Given the description of an element on the screen output the (x, y) to click on. 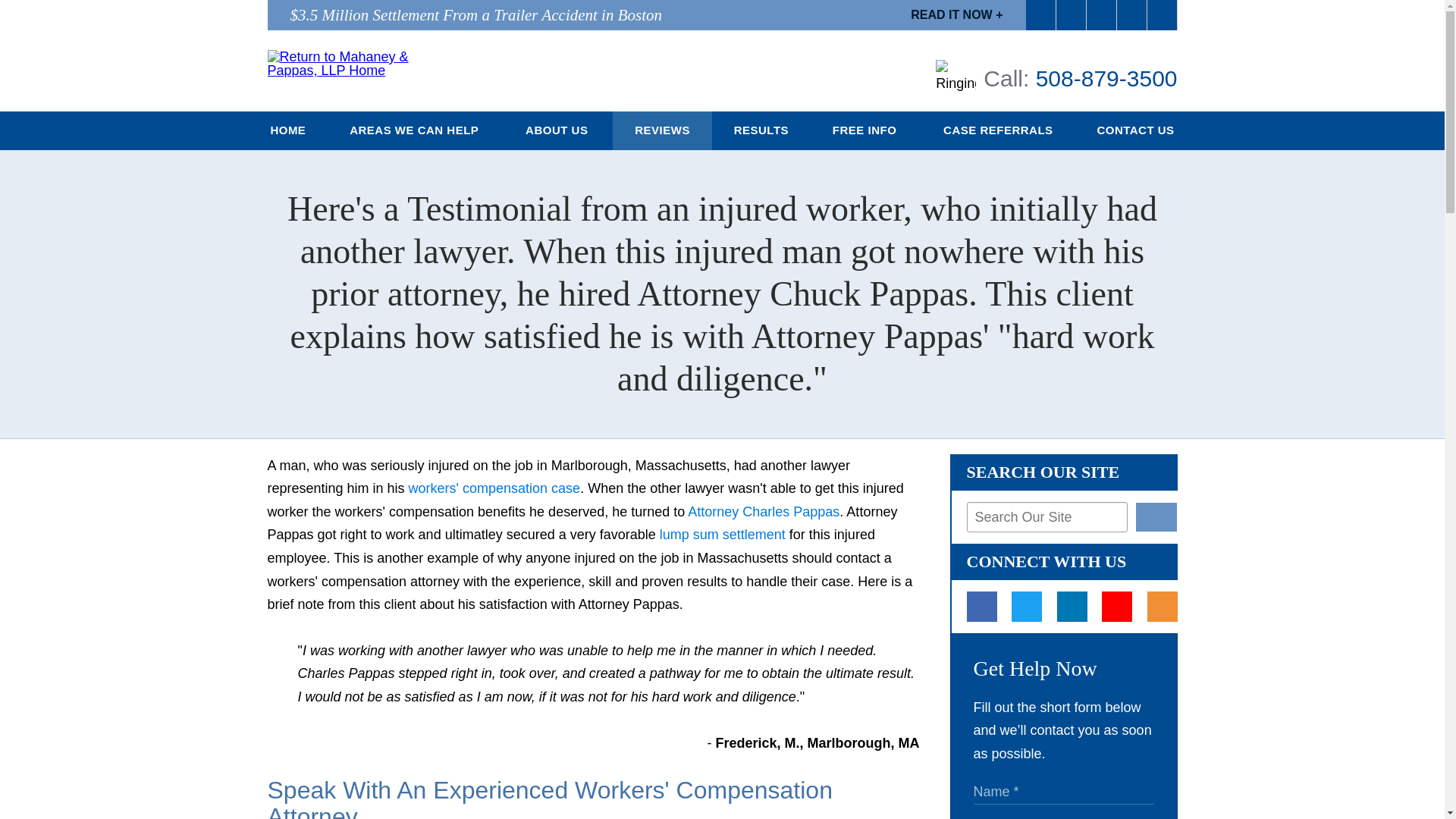
FREE INFO (865, 130)
Search (1155, 517)
REVIEWS (661, 130)
HOME (288, 130)
workers' compensation case (494, 488)
ABOUT US (557, 130)
CONTACT US (1135, 130)
AREAS WE CAN HELP (415, 130)
CASE REFERRALS (997, 130)
RESULTS (760, 130)
